Given the description of an element on the screen output the (x, y) to click on. 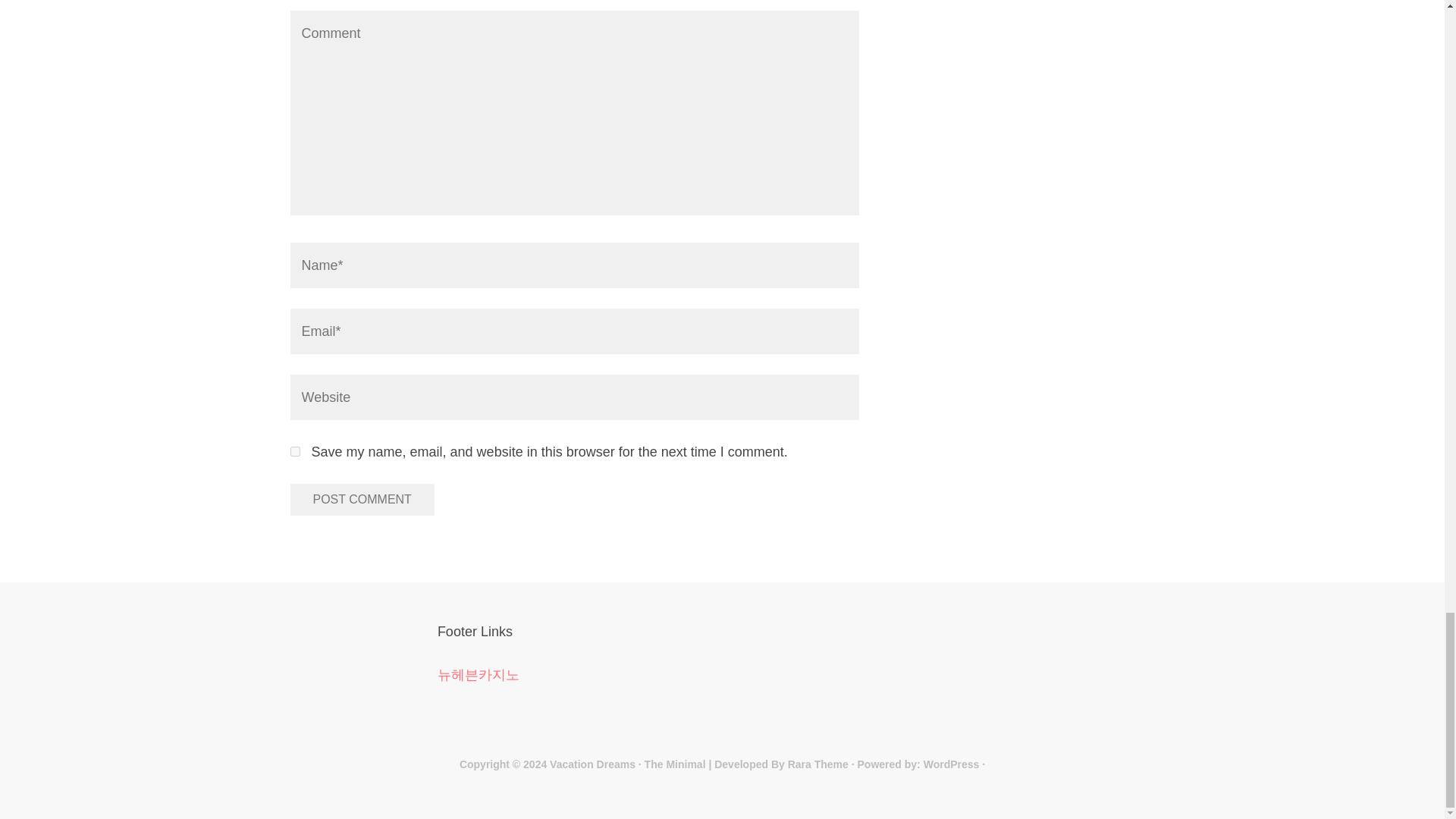
Post Comment (361, 499)
Post Comment (361, 499)
yes (294, 451)
